Given the description of an element on the screen output the (x, y) to click on. 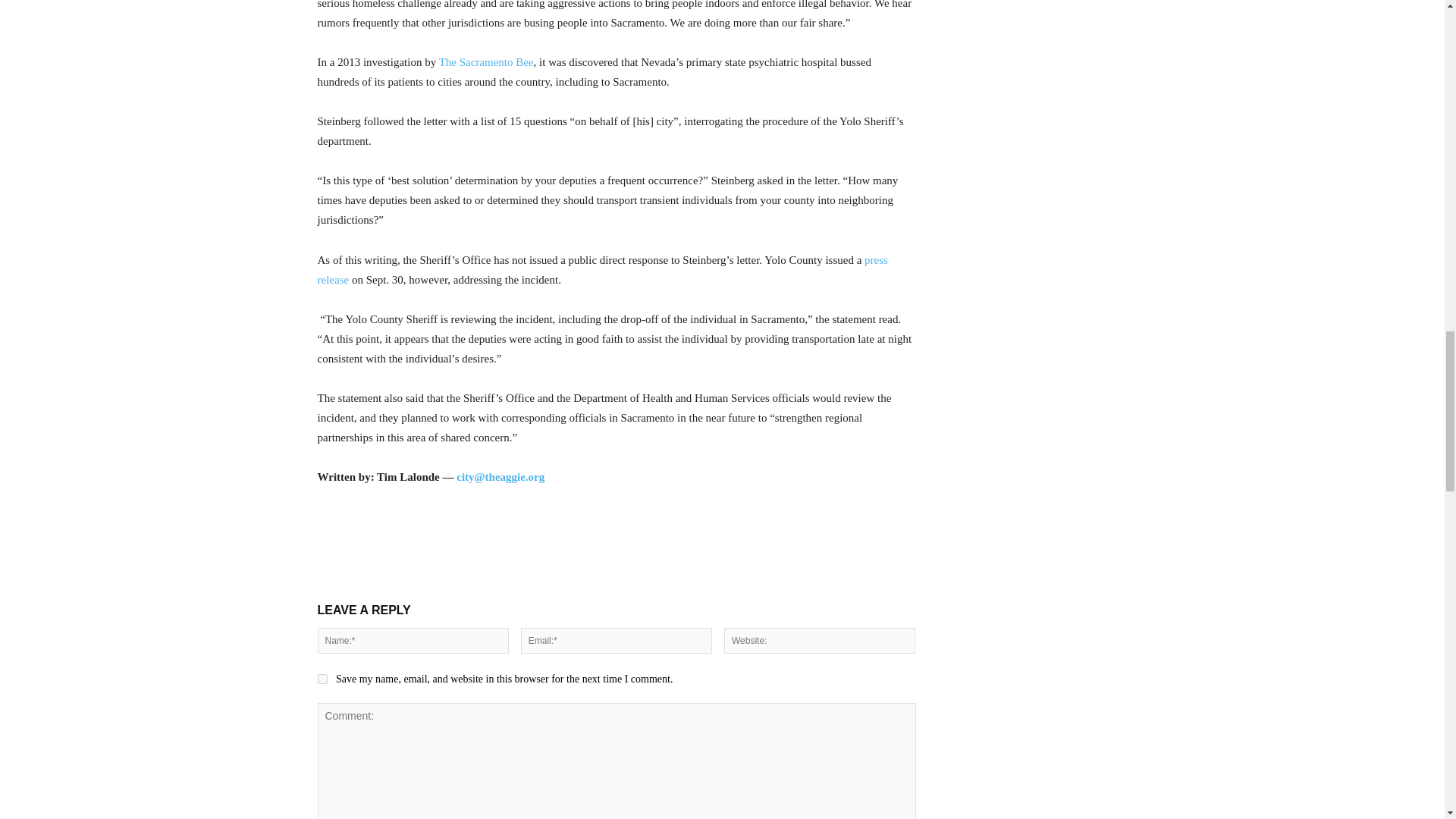
yes (321, 678)
